Given the description of an element on the screen output the (x, y) to click on. 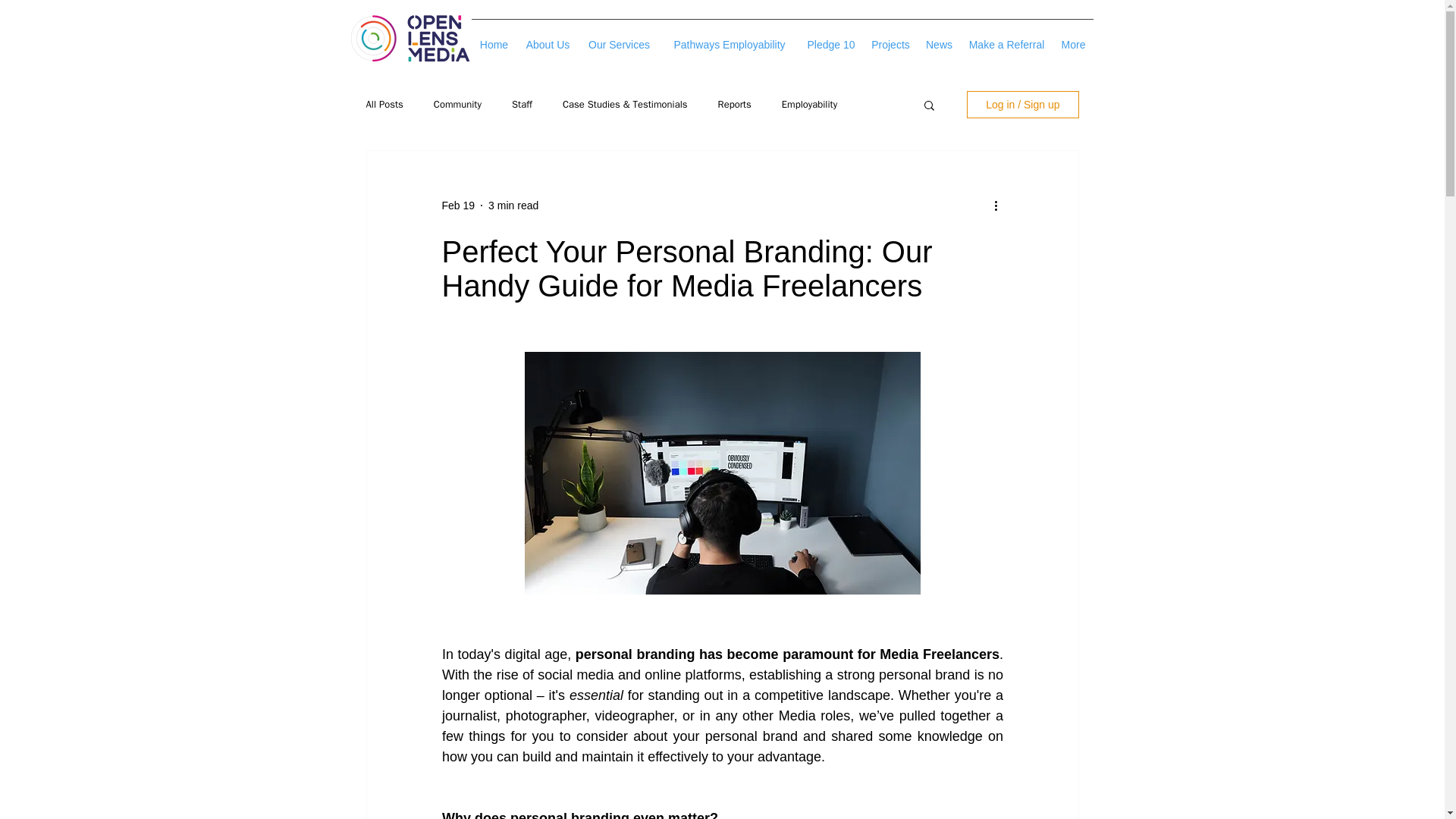
Home (493, 37)
Projects (890, 37)
3 min read (512, 204)
All Posts (384, 104)
Feb 19 (457, 204)
Pathways Employability (729, 37)
Employability (809, 104)
Community (457, 104)
Reports (734, 104)
Staff (522, 104)
